Given the description of an element on the screen output the (x, y) to click on. 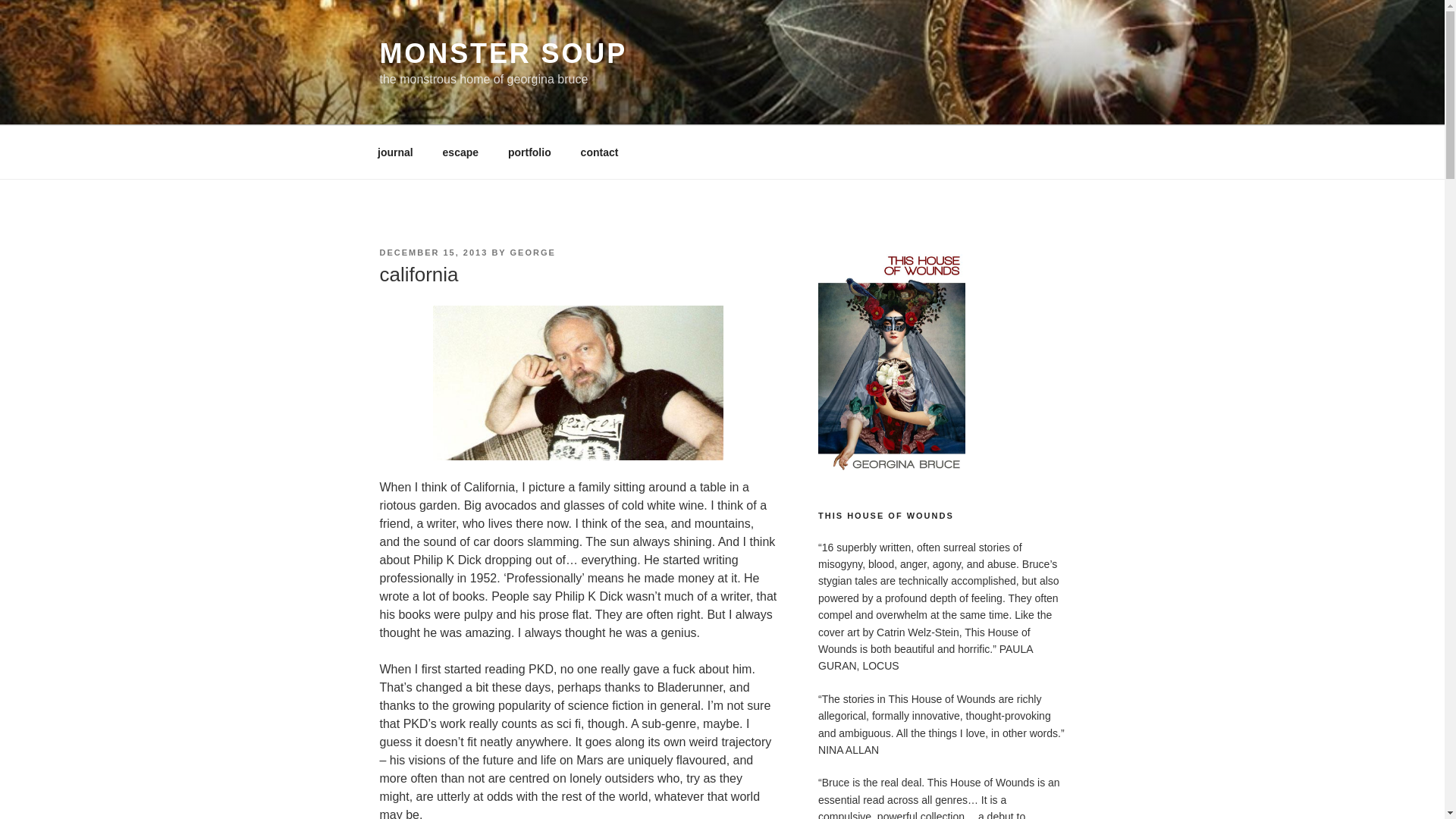
MONSTER SOUP (502, 52)
philip-k-dick-primer (577, 382)
GEORGE (533, 252)
escape (460, 151)
journal (395, 151)
portfolio (529, 151)
contact (599, 151)
DECEMBER 15, 2013 (432, 252)
